Given the description of an element on the screen output the (x, y) to click on. 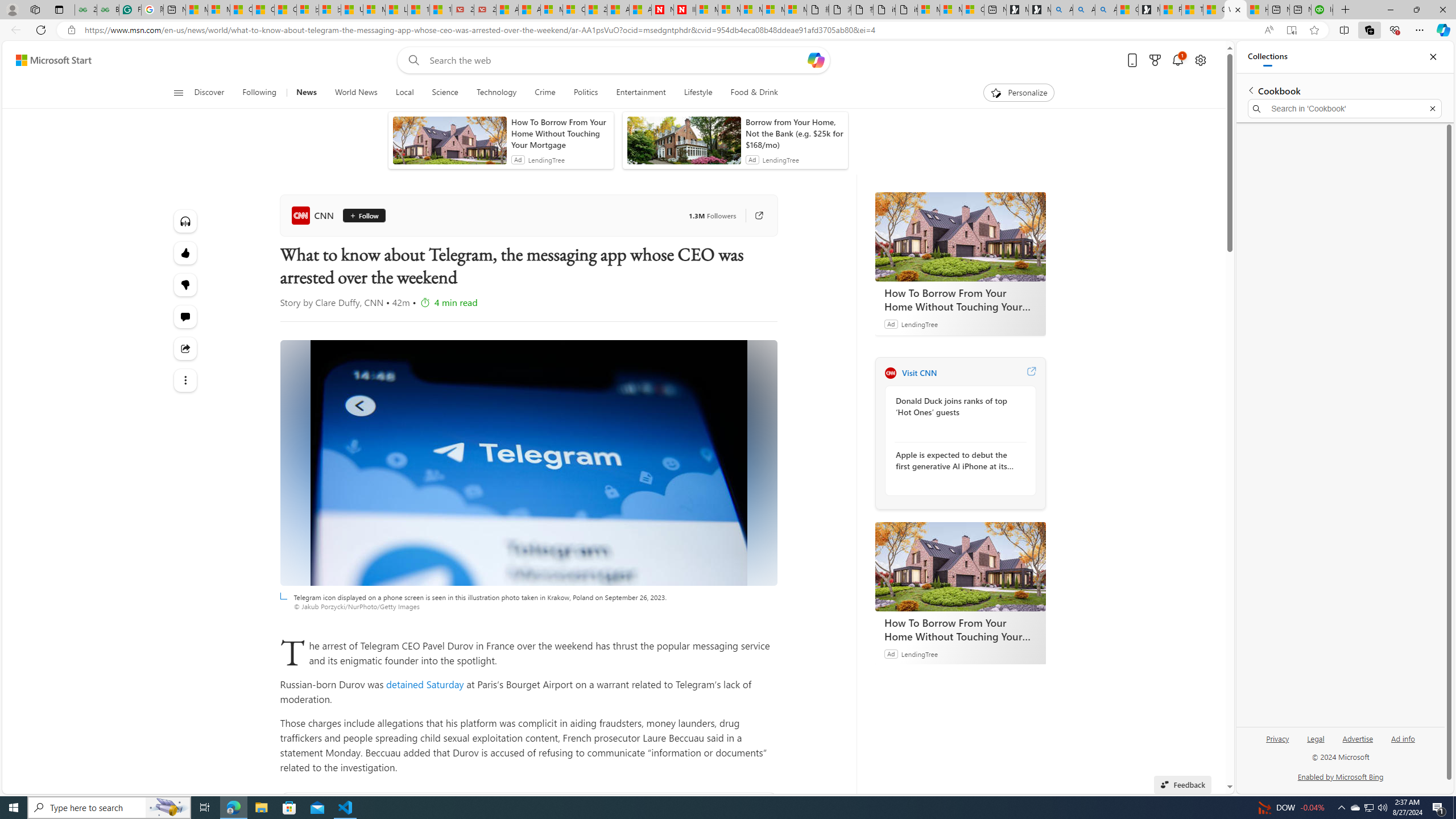
Go to publisher's site (752, 215)
Listen to this article (184, 220)
How to Use a TV as a Computer Monitor (1256, 9)
21 Movies That Outdid the Books They Were Based On (484, 9)
Alabama high school quarterback dies - Search Videos (1105, 9)
